Given the description of an element on the screen output the (x, y) to click on. 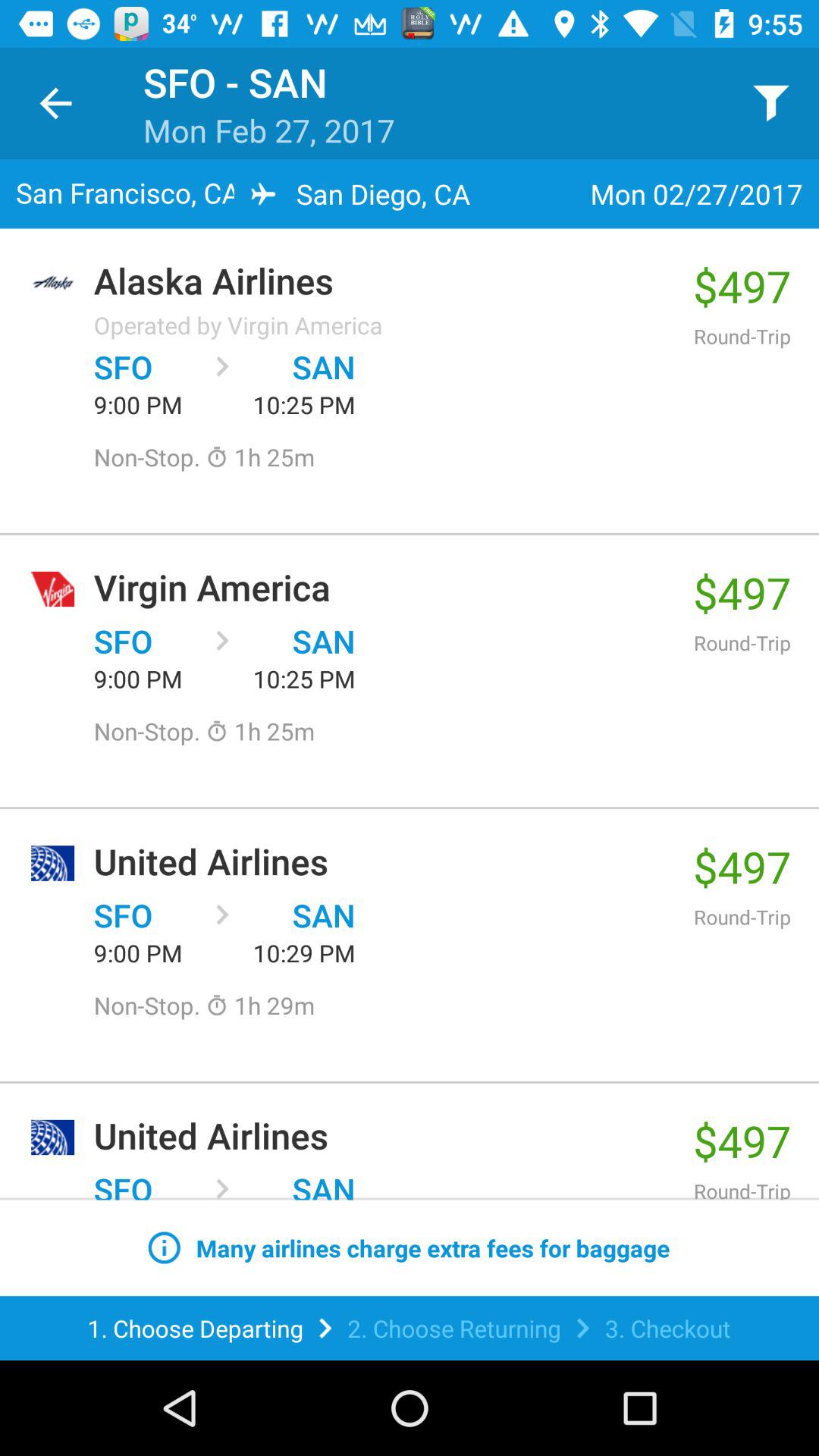
select the item below san francisco, ca item (385, 280)
